Given the description of an element on the screen output the (x, y) to click on. 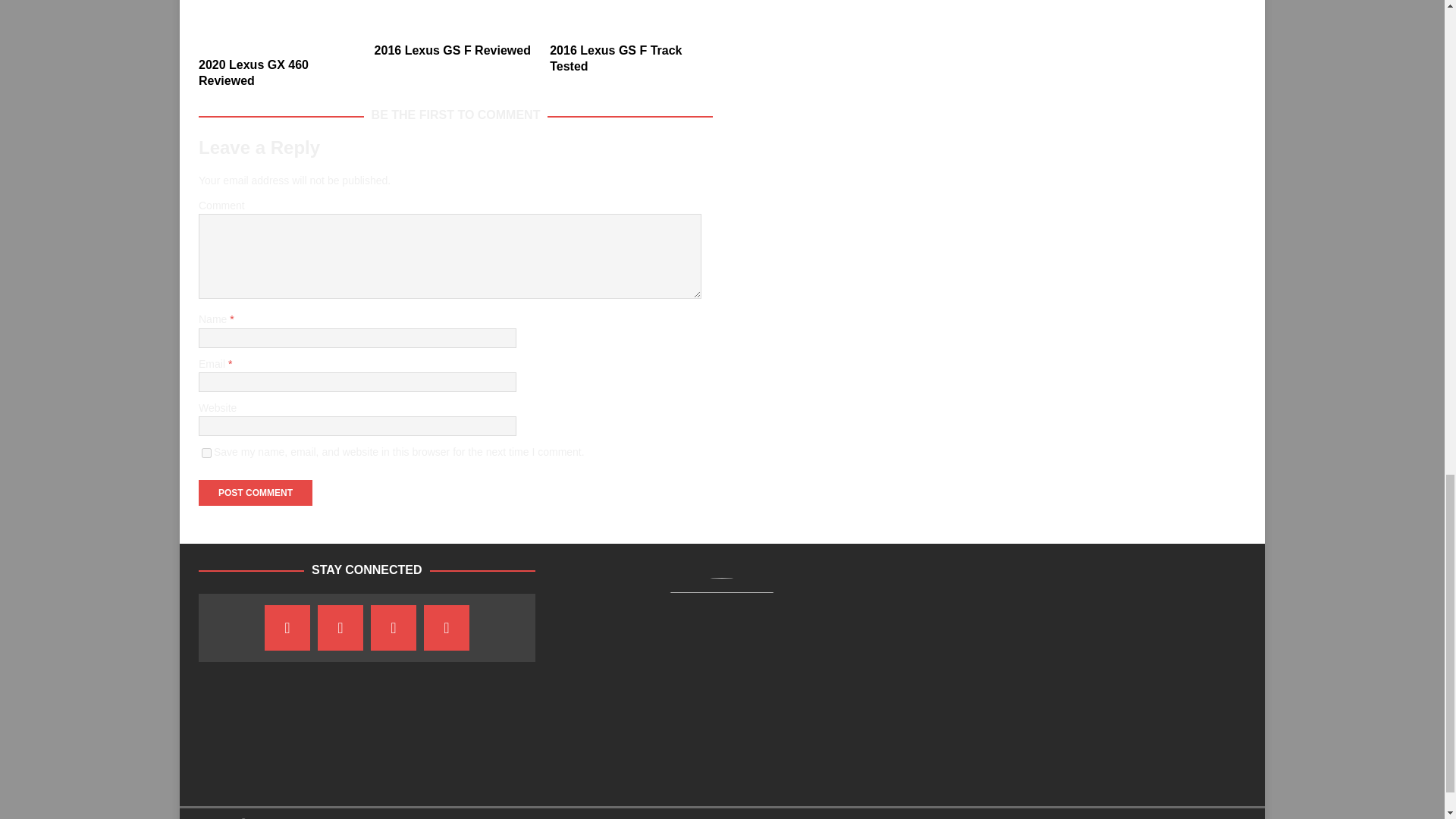
yes (206, 452)
Post Comment (255, 492)
2020 Lexus GX 460 Reviewed (279, 24)
